Given the description of an element on the screen output the (x, y) to click on. 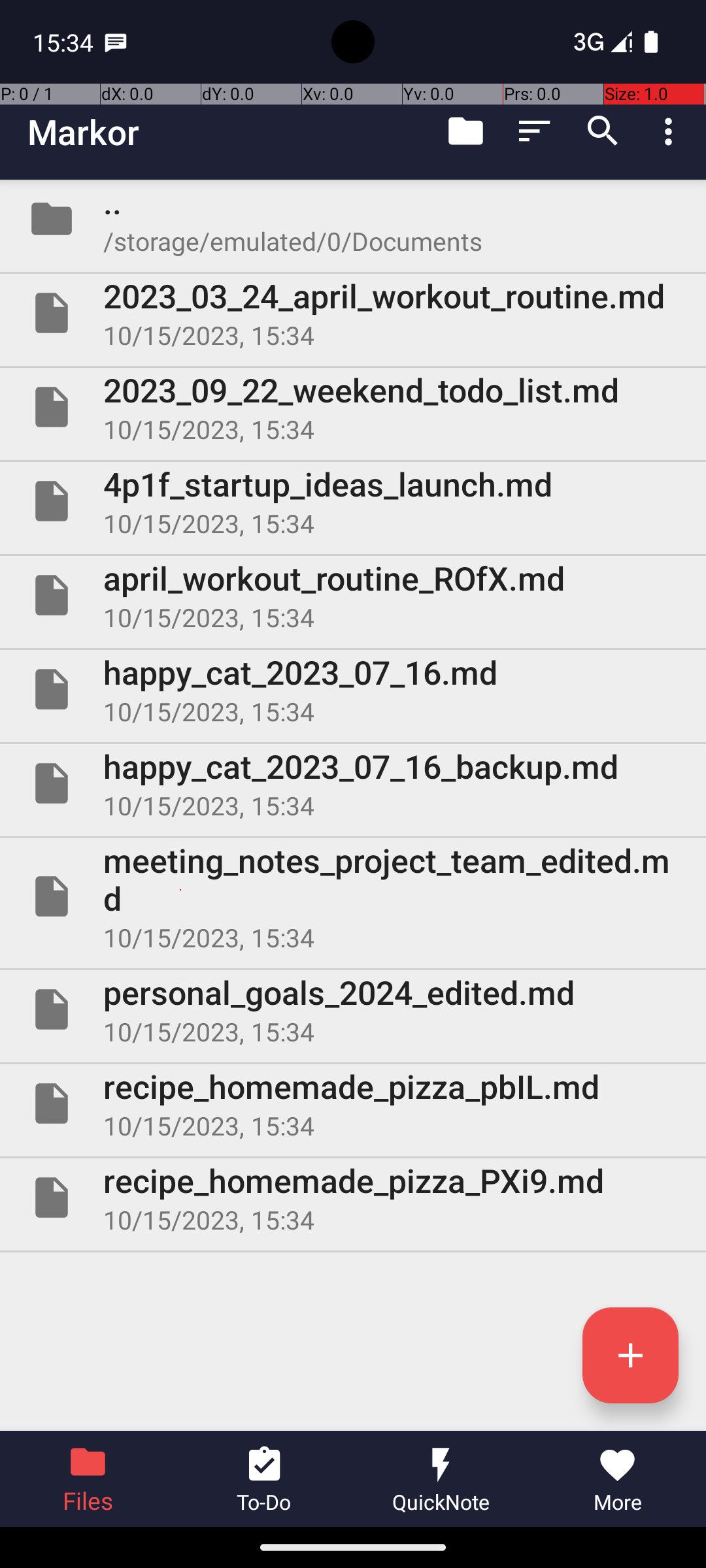
Create a new file or folder Element type: android.widget.ImageButton (630, 1355)
Go to Element type: android.widget.TextView (465, 131)
Sort by Element type: android.widget.TextView (534, 131)
To-Do Element type: android.widget.FrameLayout (264, 1478)
QuickNote Element type: android.widget.FrameLayout (441, 1478)
More Element type: android.widget.FrameLayout (617, 1478)
Folder ..  Element type: android.widget.LinearLayout (353, 218)
File 2023_03_24_april_workout_routine.md  Element type: android.widget.LinearLayout (353, 312)
File 2023_09_22_weekend_todo_list.md  Element type: android.widget.LinearLayout (353, 406)
File 4p1f_startup_ideas_launch.md  Element type: android.widget.LinearLayout (353, 500)
File april_workout_routine_ROfX.md  Element type: android.widget.LinearLayout (353, 594)
File happy_cat_2023_07_16.md  Element type: android.widget.LinearLayout (353, 689)
File happy_cat_2023_07_16_backup.md  Element type: android.widget.LinearLayout (353, 783)
File meeting_notes_project_team_edited.md  Element type: android.widget.LinearLayout (353, 896)
File personal_goals_2024_edited.md  Element type: android.widget.LinearLayout (353, 1009)
File recipe_homemade_pizza_pbIL.md  Element type: android.widget.LinearLayout (353, 1103)
File recipe_homemade_pizza_PXi9.md  Element type: android.widget.LinearLayout (353, 1197)
